Given the description of an element on the screen output the (x, y) to click on. 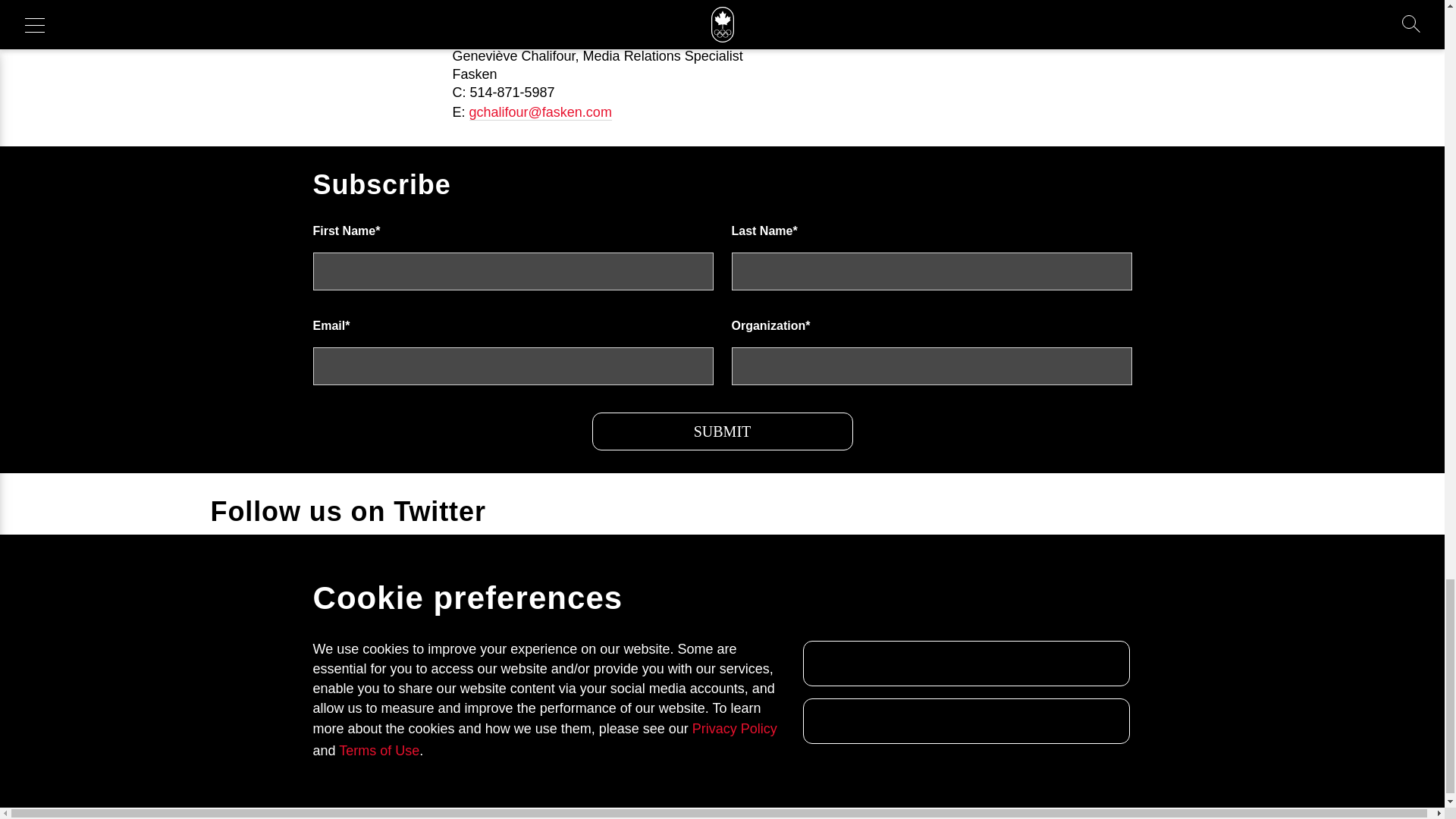
Submit (721, 431)
